Given the description of an element on the screen output the (x, y) to click on. 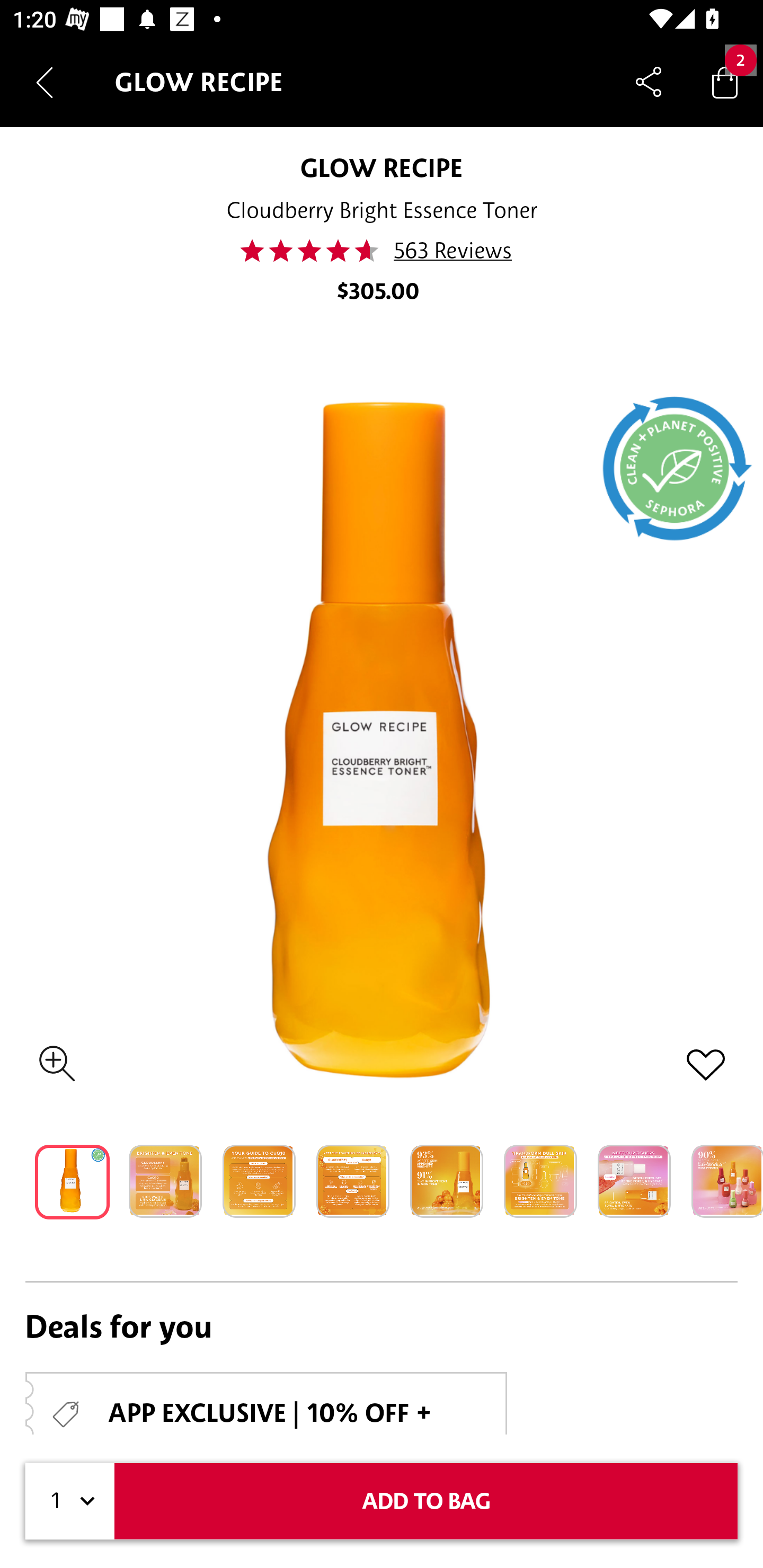
Navigate up (44, 82)
Share (648, 81)
Bag (724, 81)
GLOW RECIPE (381, 167)
46.0 563 Reviews (381, 250)
1 (69, 1500)
ADD TO BAG (425, 1500)
